Given the description of an element on the screen output the (x, y) to click on. 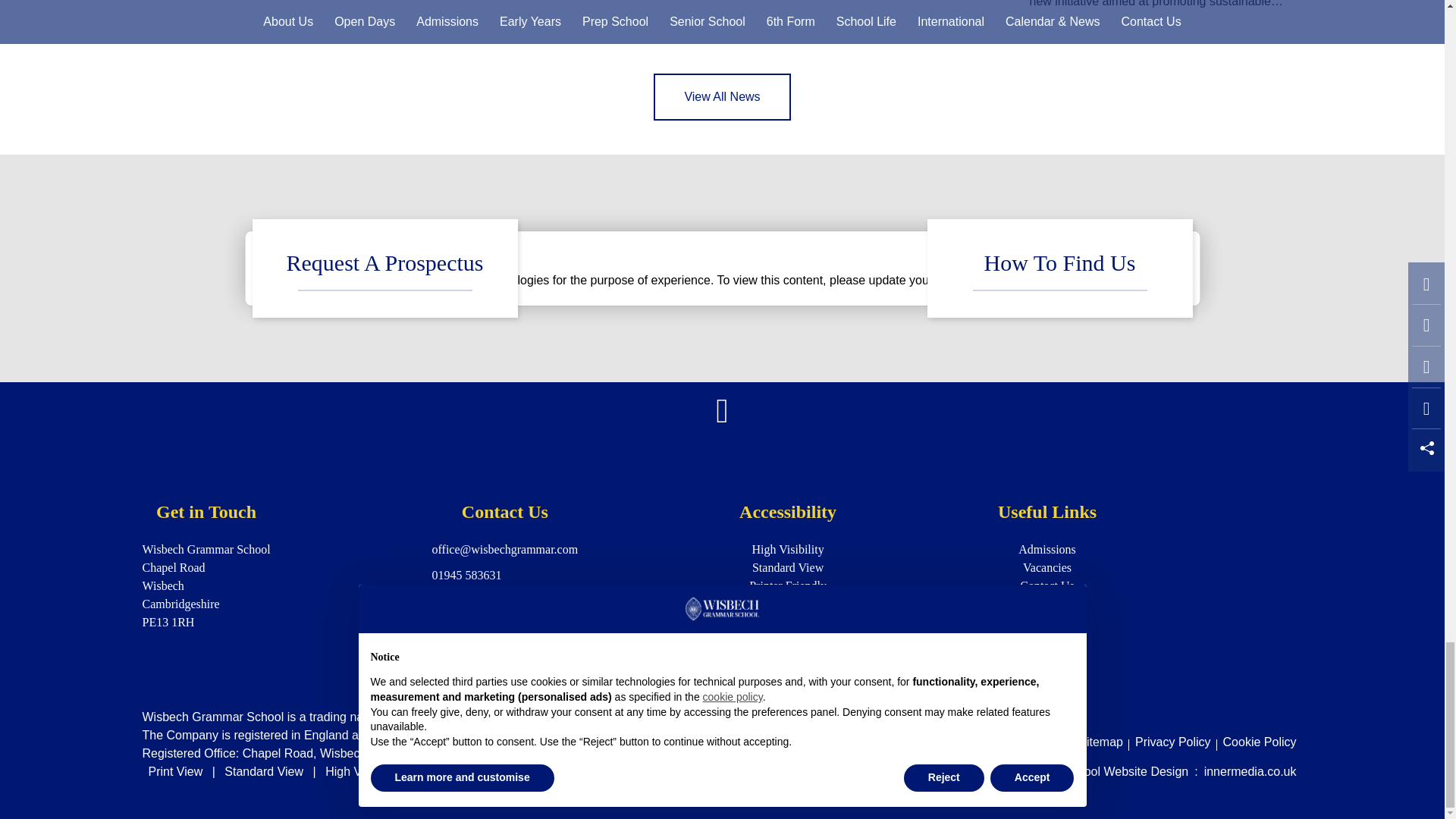
Switch to Standard Visibility (263, 771)
Switch to High Visibility (360, 771)
Switch to Print (175, 771)
